Given the description of an element on the screen output the (x, y) to click on. 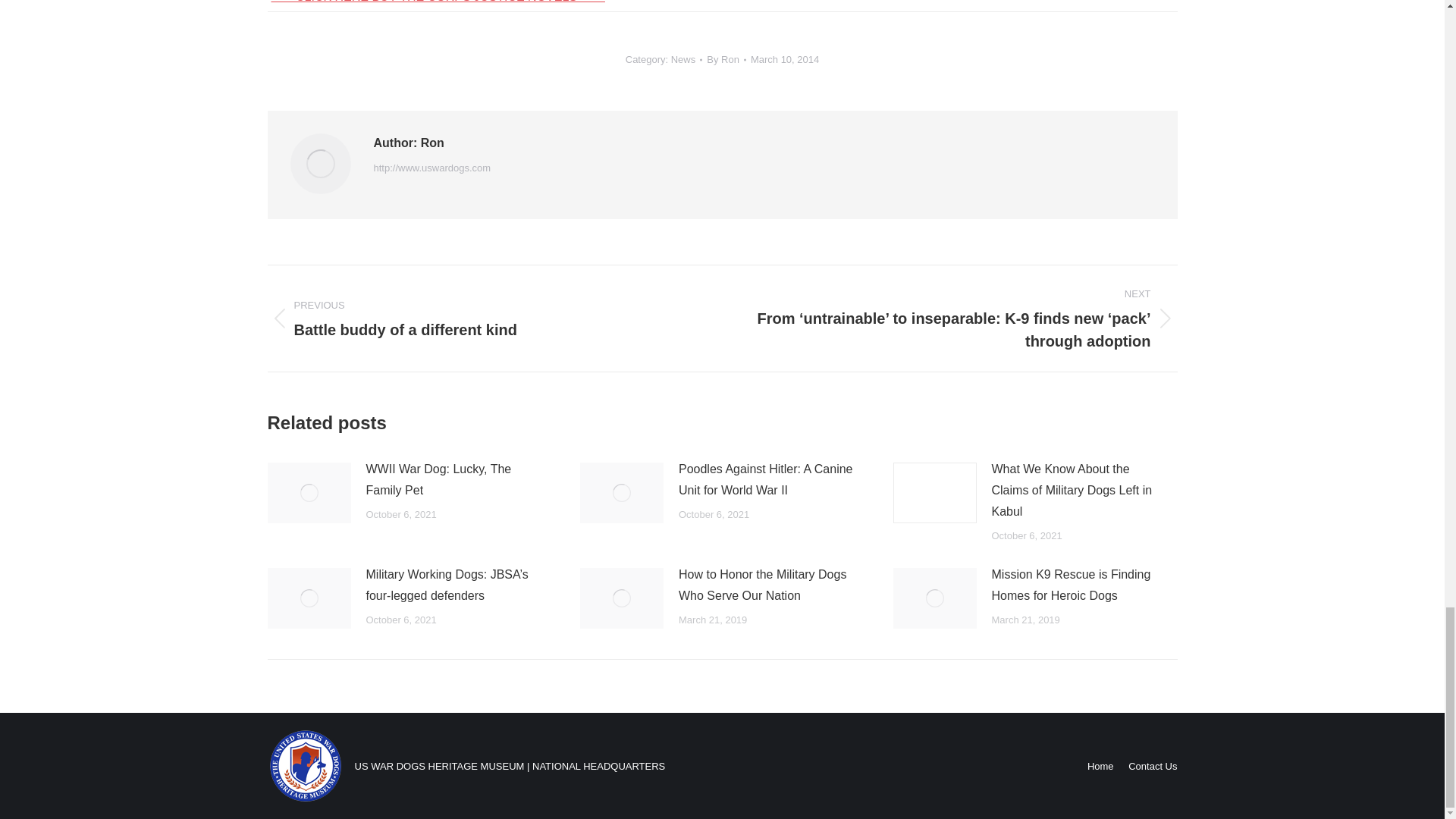
4:56 pm (784, 58)
View all posts by Ron (725, 58)
